Given the description of an element on the screen output the (x, y) to click on. 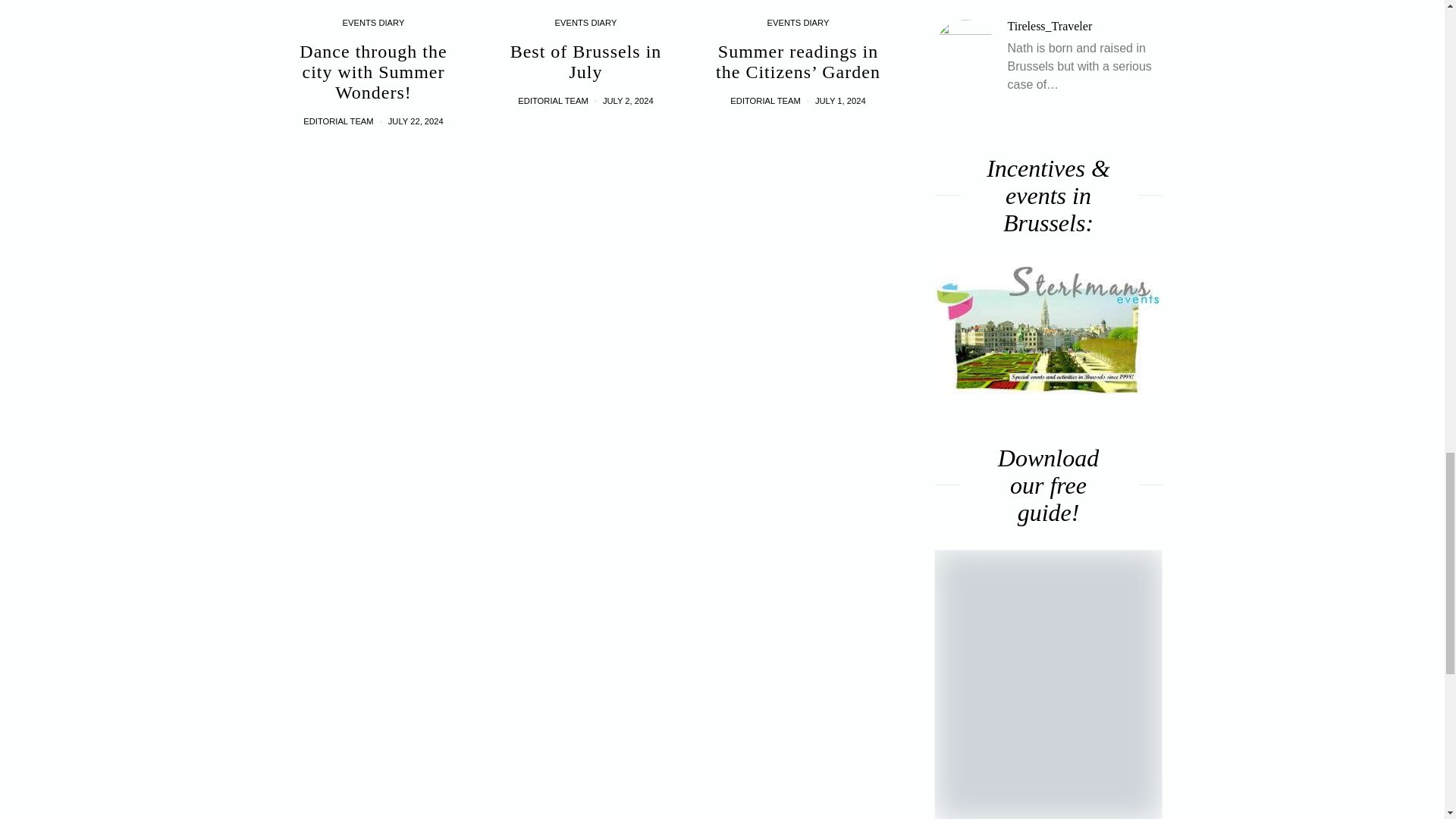
View all posts by Editorial Team (764, 100)
View all posts by Editorial Team (553, 100)
View all posts by Editorial Team (337, 121)
